Given the description of an element on the screen output the (x, y) to click on. 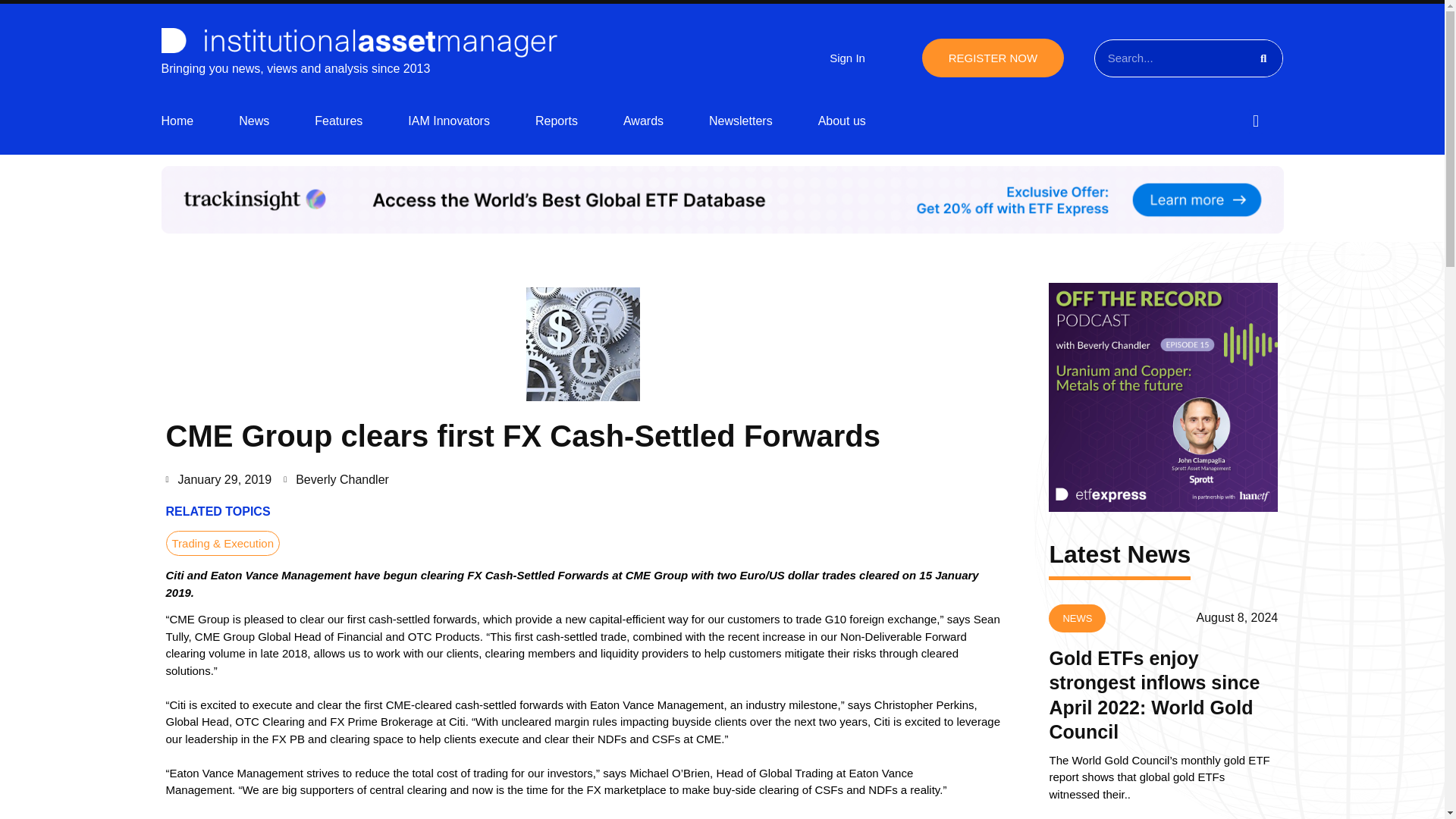
Newsletters (741, 121)
IAM Innovators (448, 121)
Reports (556, 121)
Sign In (847, 57)
REGISTER NOW (992, 57)
About us (842, 121)
Home (176, 121)
Awards (643, 121)
Features (338, 121)
